Given the description of an element on the screen output the (x, y) to click on. 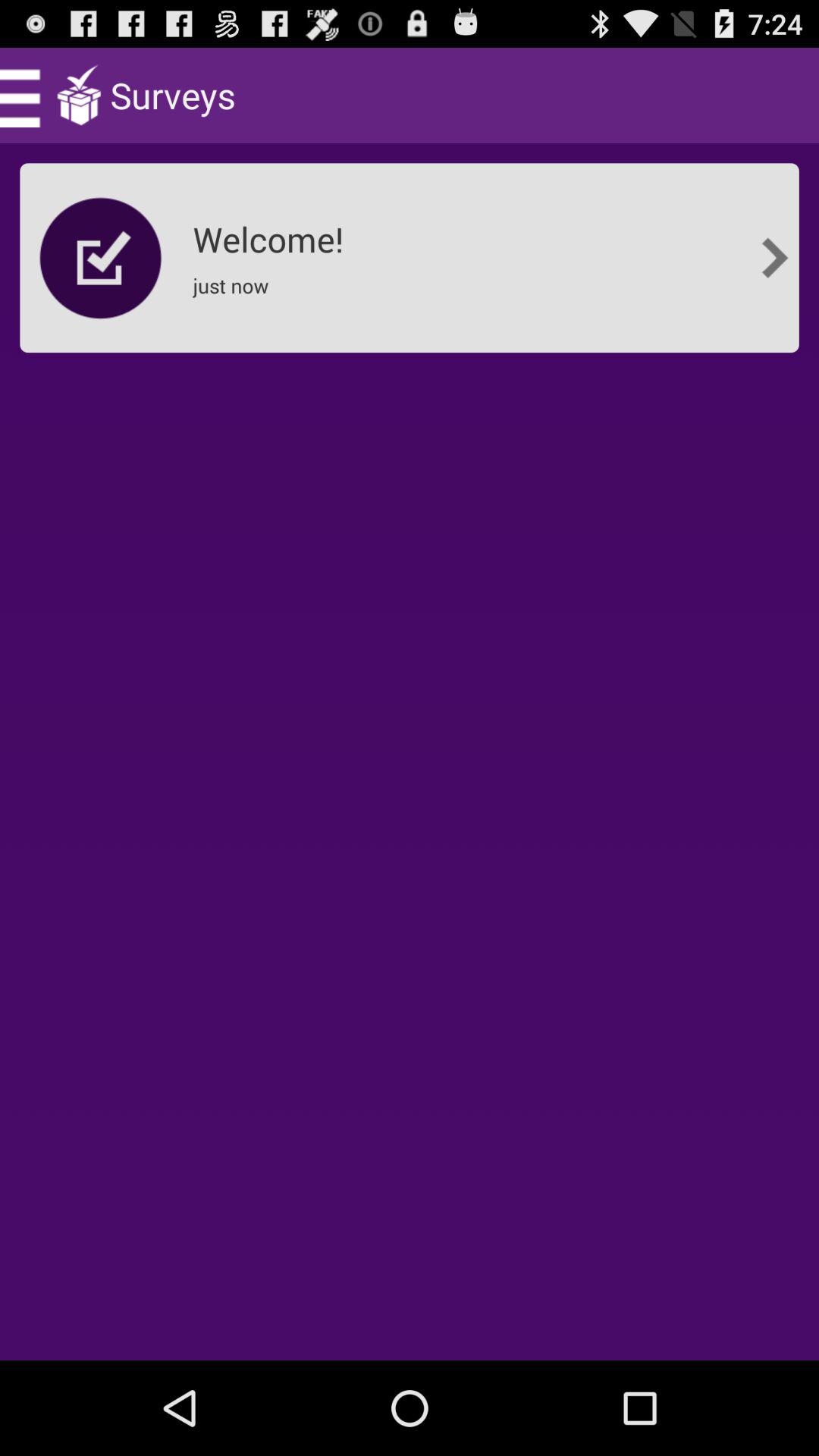
tap the welcome! at the top (272, 234)
